Given the description of an element on the screen output the (x, y) to click on. 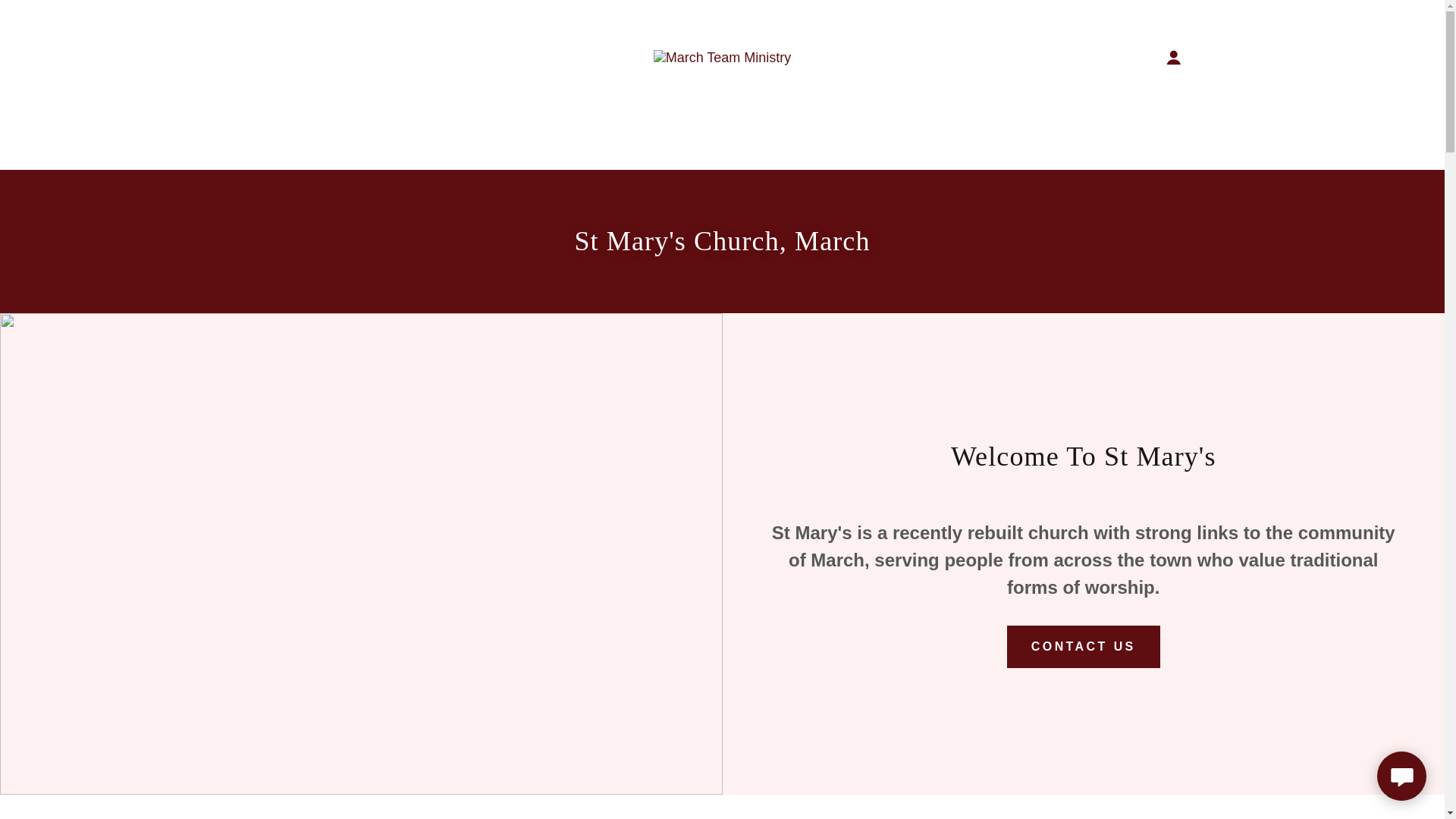
March Team Ministry (722, 56)
